Given the description of an element on the screen output the (x, y) to click on. 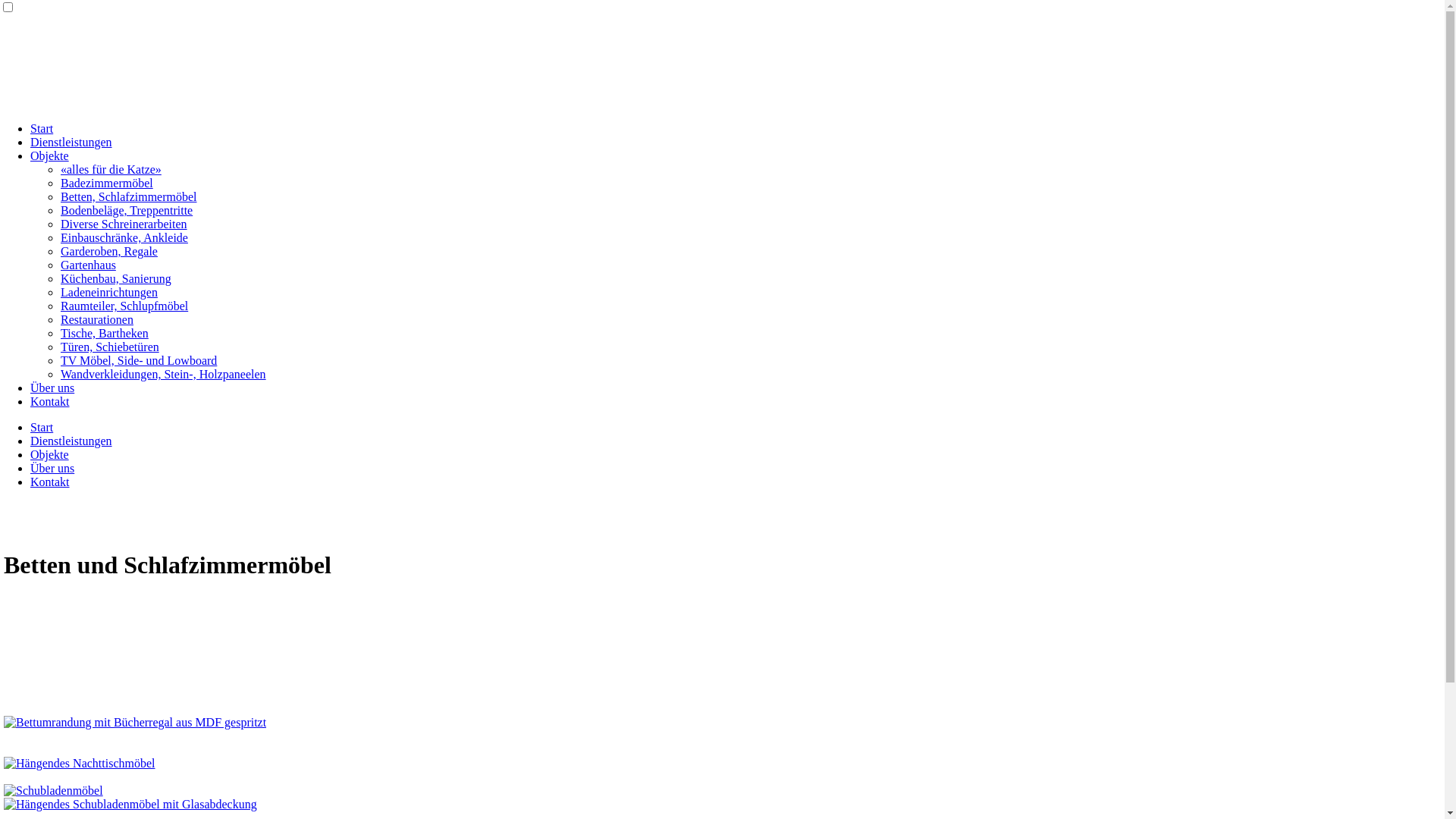
Start Element type: text (41, 426)
Objekte Element type: text (49, 454)
Garderoben, Regale Element type: text (108, 250)
Ladeneinrichtungen Element type: text (108, 291)
Wandverkleidungen, Stein-, Holzpaneelen Element type: text (163, 373)
Objekte Element type: text (49, 155)
Restaurationen Element type: text (96, 319)
Dienstleistungen Element type: text (71, 141)
Tische, Bartheken Element type: text (104, 332)
Kontakt Element type: text (49, 481)
Start Element type: text (41, 128)
Dienstleistungen Element type: text (71, 440)
Kontakt Element type: text (49, 401)
Gartenhaus Element type: text (88, 264)
Diverse Schreinerarbeiten Element type: text (123, 223)
